Given the description of an element on the screen output the (x, y) to click on. 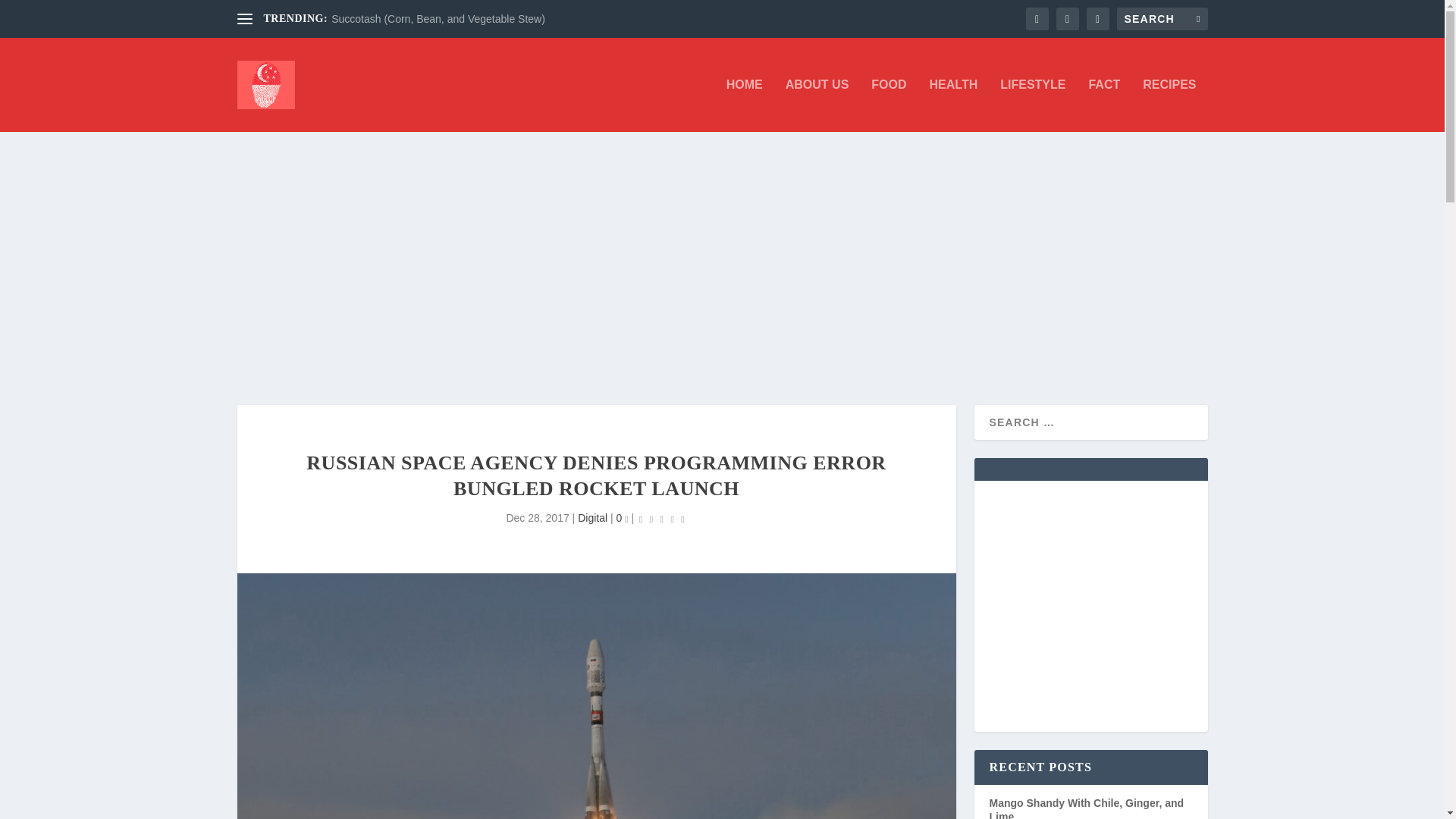
Search for: (1161, 18)
Digital (592, 517)
HEALTH (954, 104)
RECIPES (1168, 104)
Rating: 0.00 (662, 518)
LIFESTYLE (1032, 104)
ABOUT US (817, 104)
0 (621, 517)
